Given the description of an element on the screen output the (x, y) to click on. 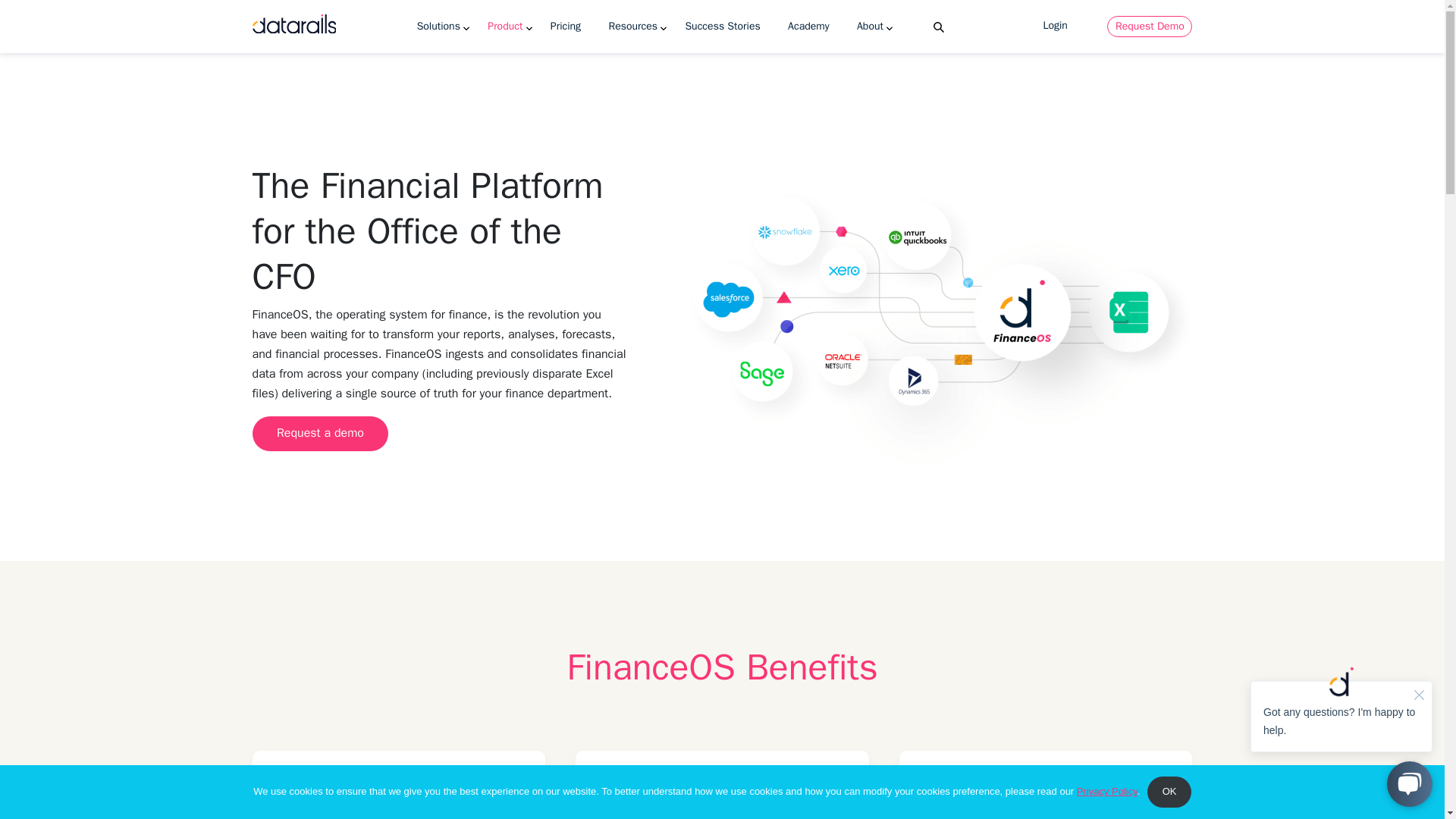
Privacy Policy (1107, 790)
Frame 96539 (1045, 806)
Resources (632, 26)
Product (505, 26)
Pricing (566, 26)
Academy (808, 26)
No (1425, 791)
Solutions (438, 26)
About (869, 26)
Success Stories (722, 26)
